Given the description of an element on the screen output the (x, y) to click on. 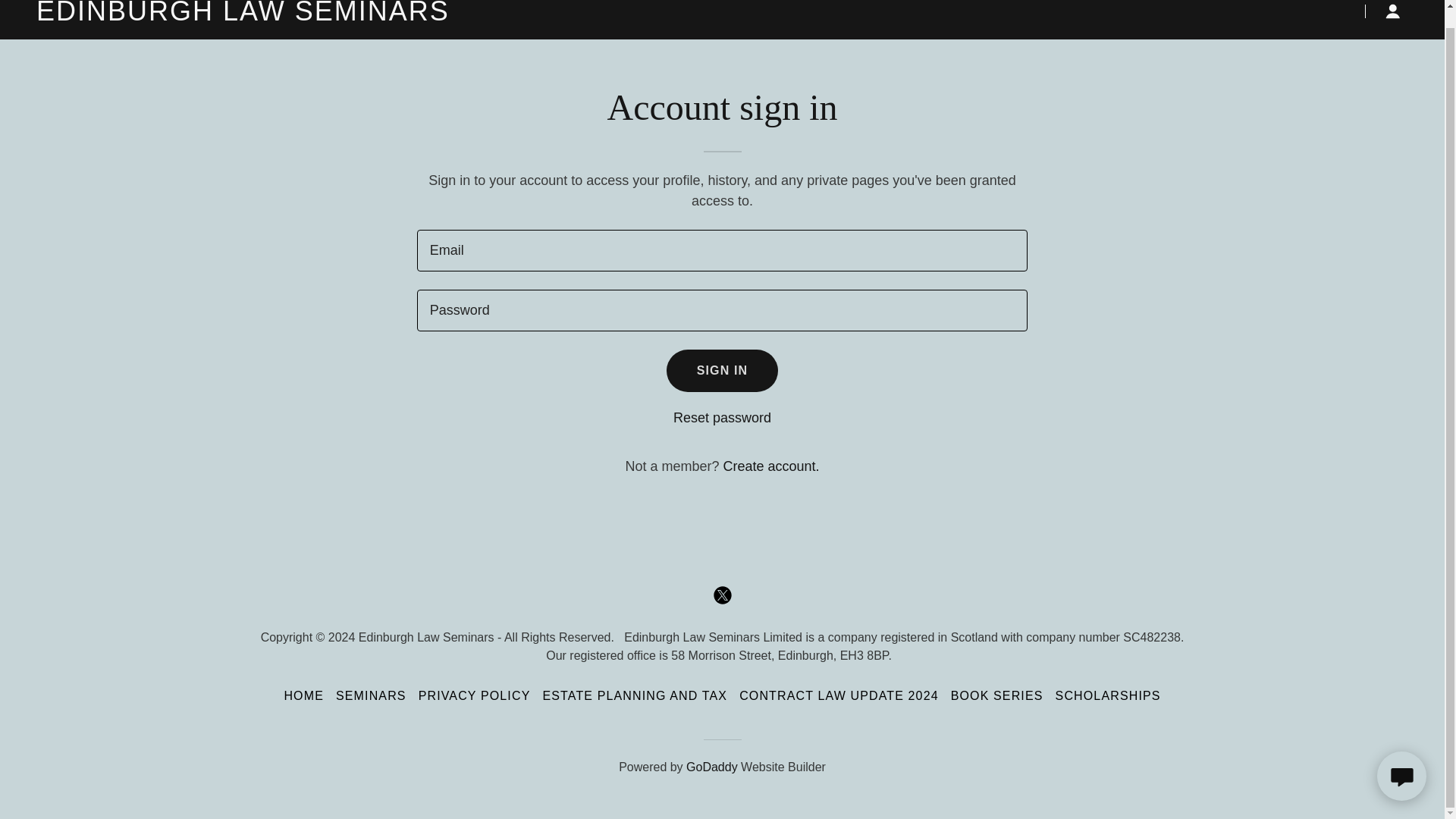
SCHOLARSHIPS (1108, 696)
GoDaddy (711, 766)
PRIVACY POLICY (474, 696)
ESTATE PLANNING AND TAX (634, 696)
EDINBURGH LAW SEMINARS (276, 15)
Edinburgh Law Seminars (276, 15)
CONTRACT LAW UPDATE 2024 (838, 696)
Create account. (770, 466)
HOME (304, 696)
SIGN IN (722, 370)
